Given the description of an element on the screen output the (x, y) to click on. 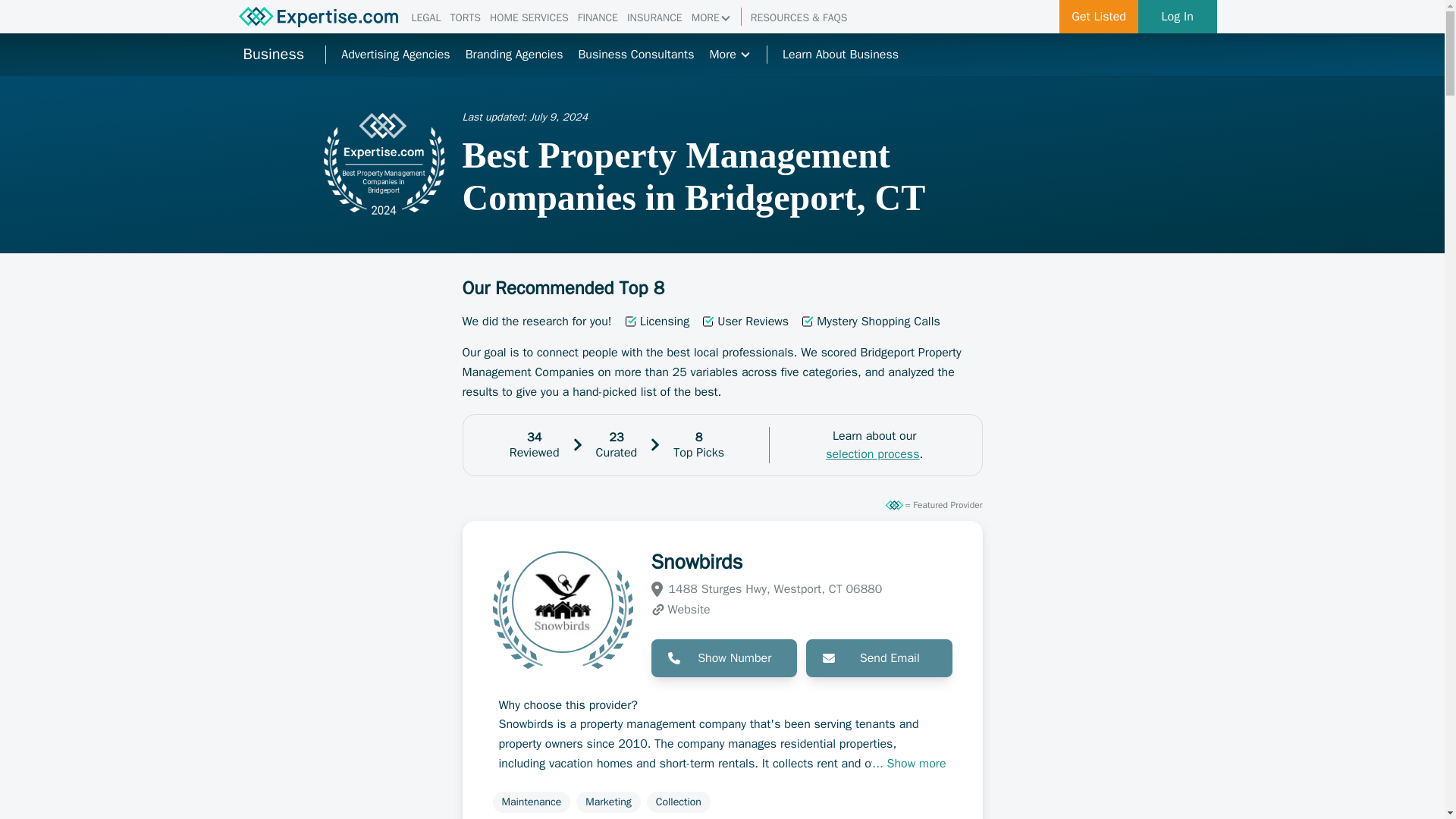
Business (272, 53)
INSURANCE (654, 17)
FINANCE (597, 17)
Branding Agencies (514, 54)
Advertising Agencies (394, 54)
MORE (711, 17)
LEGAL (425, 17)
Log In (1177, 16)
TORTS (464, 17)
More (730, 54)
Business Consultants (636, 54)
Get Listed (1098, 16)
HOME SERVICES (529, 17)
